Given the description of an element on the screen output the (x, y) to click on. 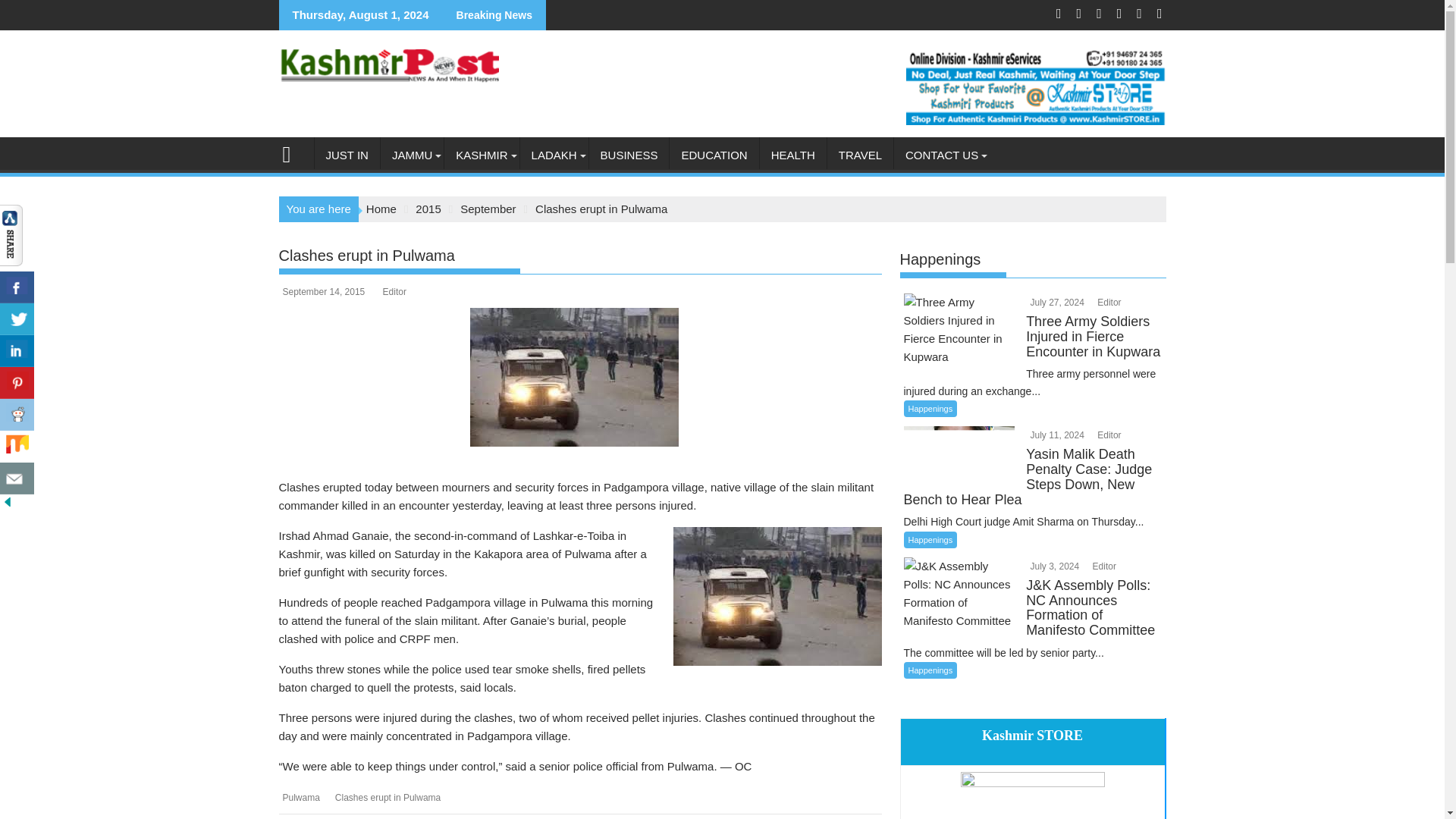
KASHMIR (481, 155)
Editor (1107, 302)
JUST IN (346, 155)
Editor (1101, 566)
JAMMU (412, 155)
Kashmir POST (293, 152)
LADAKH (553, 155)
Editor (1107, 434)
